Given the description of an element on the screen output the (x, y) to click on. 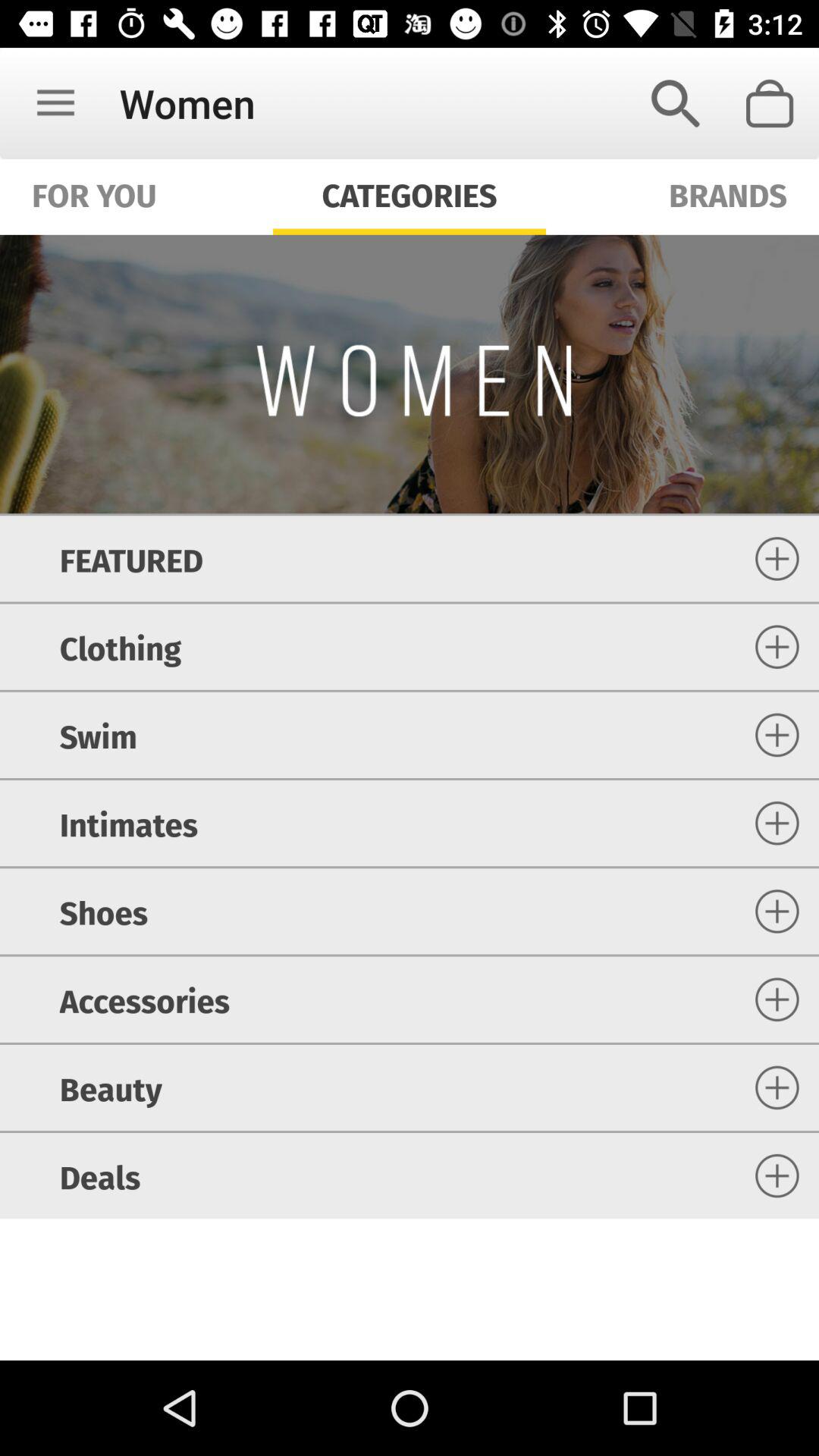
flip to intimates icon (128, 823)
